Given the description of an element on the screen output the (x, y) to click on. 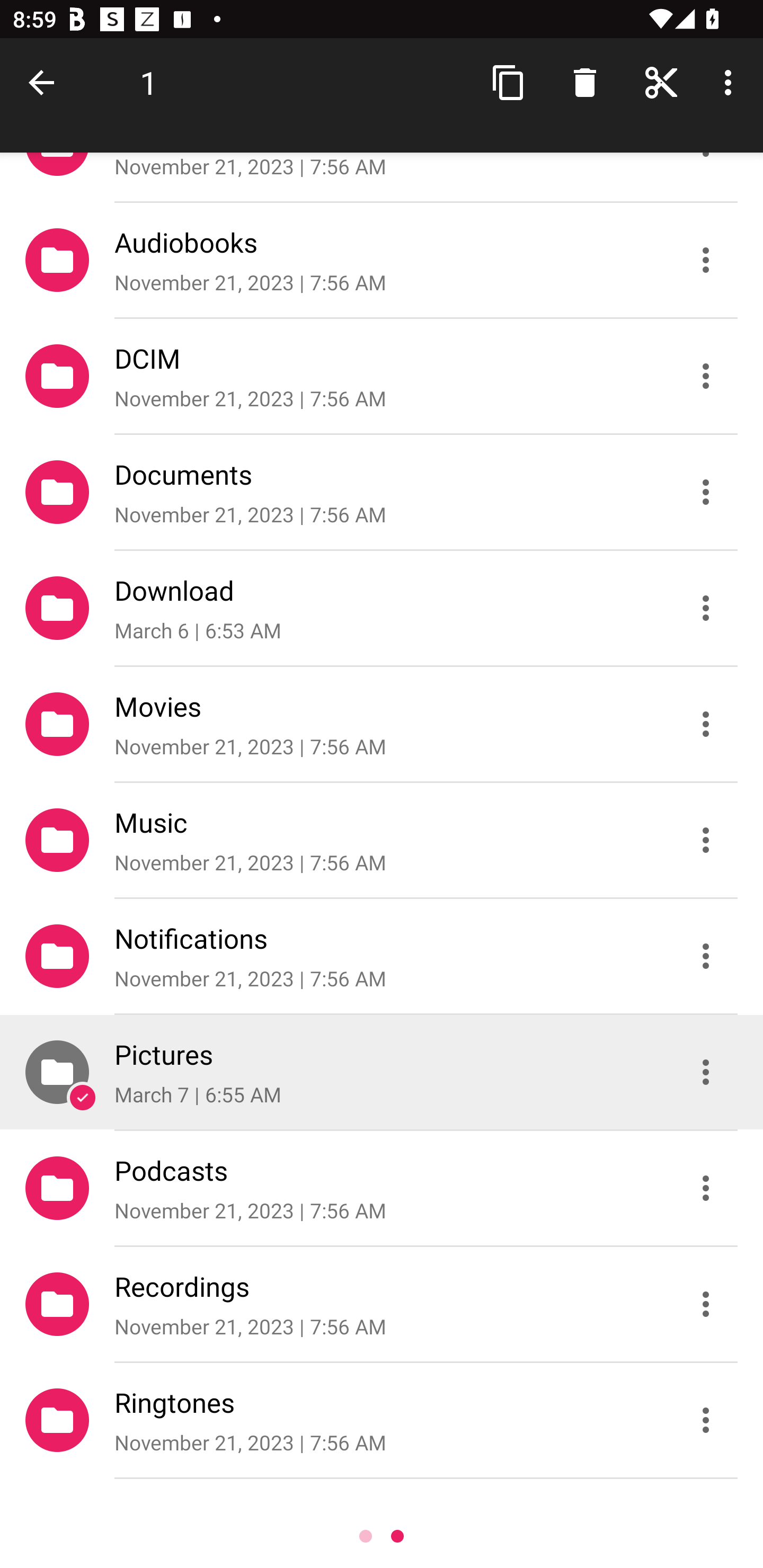
1 (148, 82)
Done (44, 81)
Copy (508, 81)
Delete (585, 81)
Cut (661, 81)
More options (731, 81)
Audiobooks November 21, 2023 | 7:56 AM (381, 259)
DCIM November 21, 2023 | 7:56 AM (381, 375)
Documents November 21, 2023 | 7:56 AM (381, 491)
Download March 6 | 6:53 AM (381, 607)
Movies November 21, 2023 | 7:56 AM (381, 723)
Music November 21, 2023 | 7:56 AM (381, 839)
Notifications November 21, 2023 | 7:56 AM (381, 955)
Pictures March 7 | 6:55 AM (381, 1071)
Podcasts November 21, 2023 | 7:56 AM (381, 1187)
Recordings November 21, 2023 | 7:56 AM (381, 1303)
Ringtones November 21, 2023 | 7:56 AM (381, 1419)
